Given the description of an element on the screen output the (x, y) to click on. 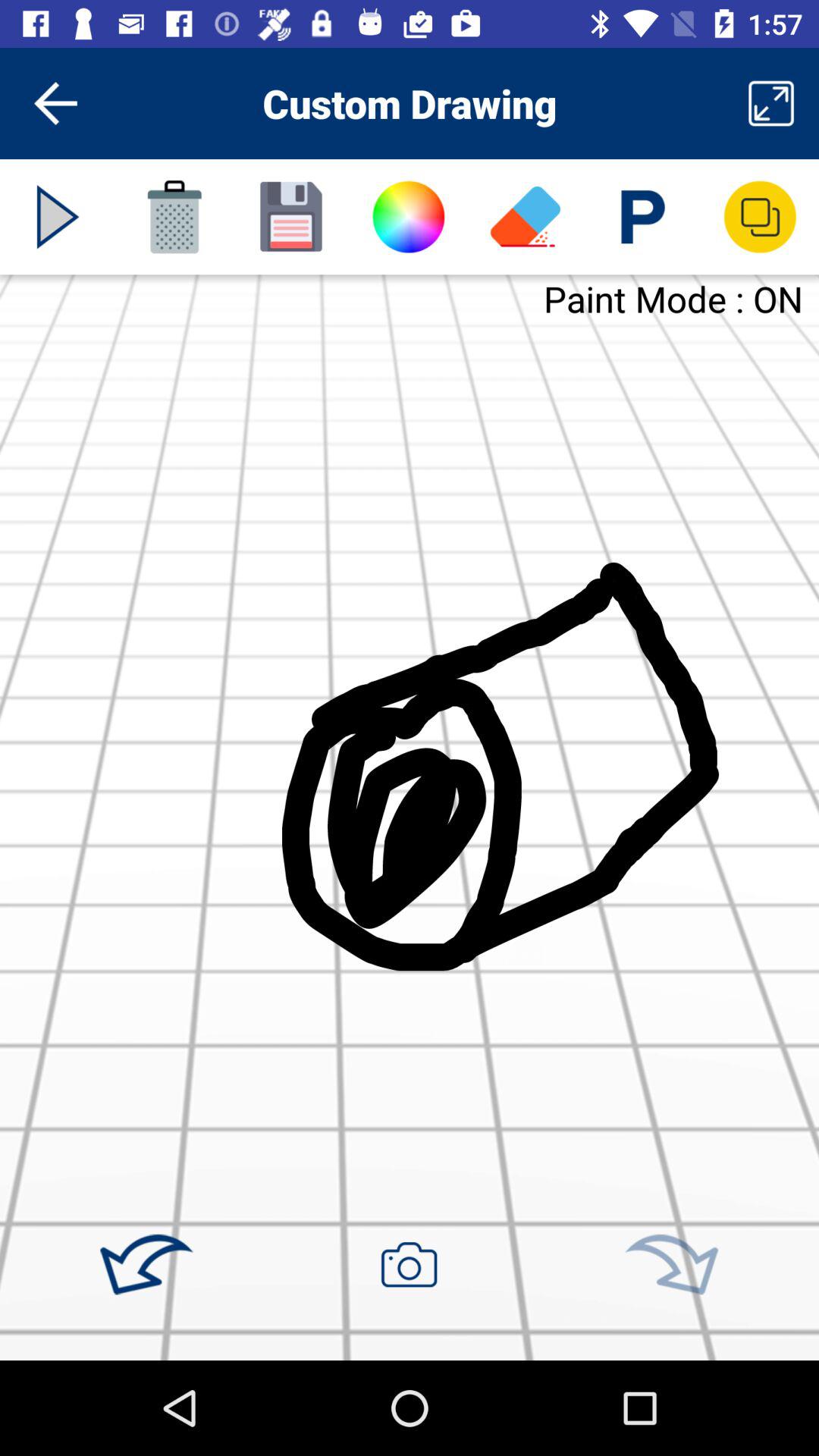
undo (146, 1264)
